Given the description of an element on the screen output the (x, y) to click on. 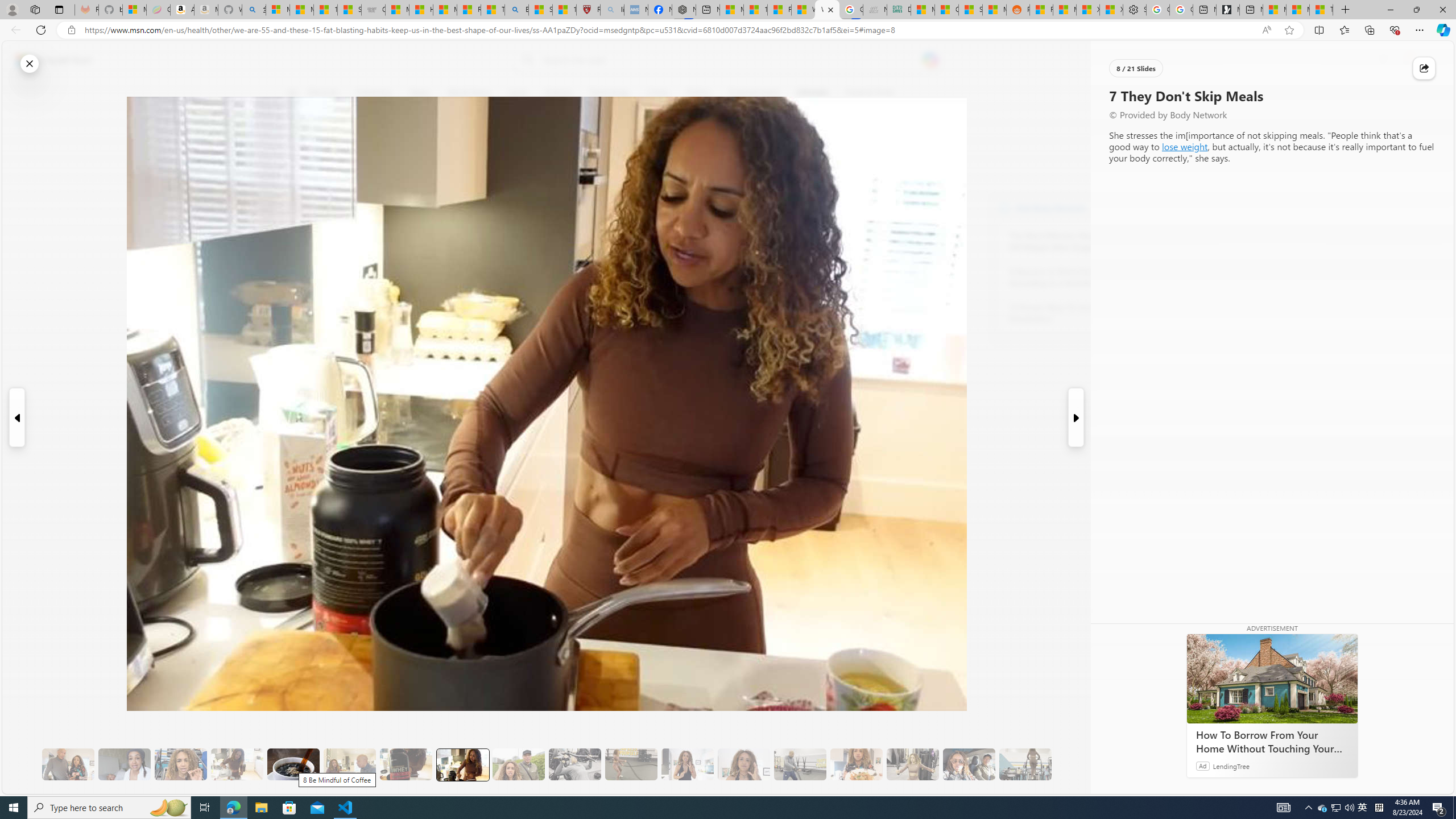
Local (517, 92)
How To Borrow From Your Home Without Touching Your Mortgage (1271, 741)
3 They Drink Lemon Tea (237, 764)
8 They Walk to the Gym (518, 764)
Crime (657, 92)
14 They Have Salmon and Veggies for Dinner (855, 764)
11 They Eat More Protein for Breakfast (687, 764)
Web search (526, 60)
Browser essentials (1394, 29)
Open settings (1427, 60)
Recipes - MSN (469, 9)
Ad (1202, 765)
